Given the description of an element on the screen output the (x, y) to click on. 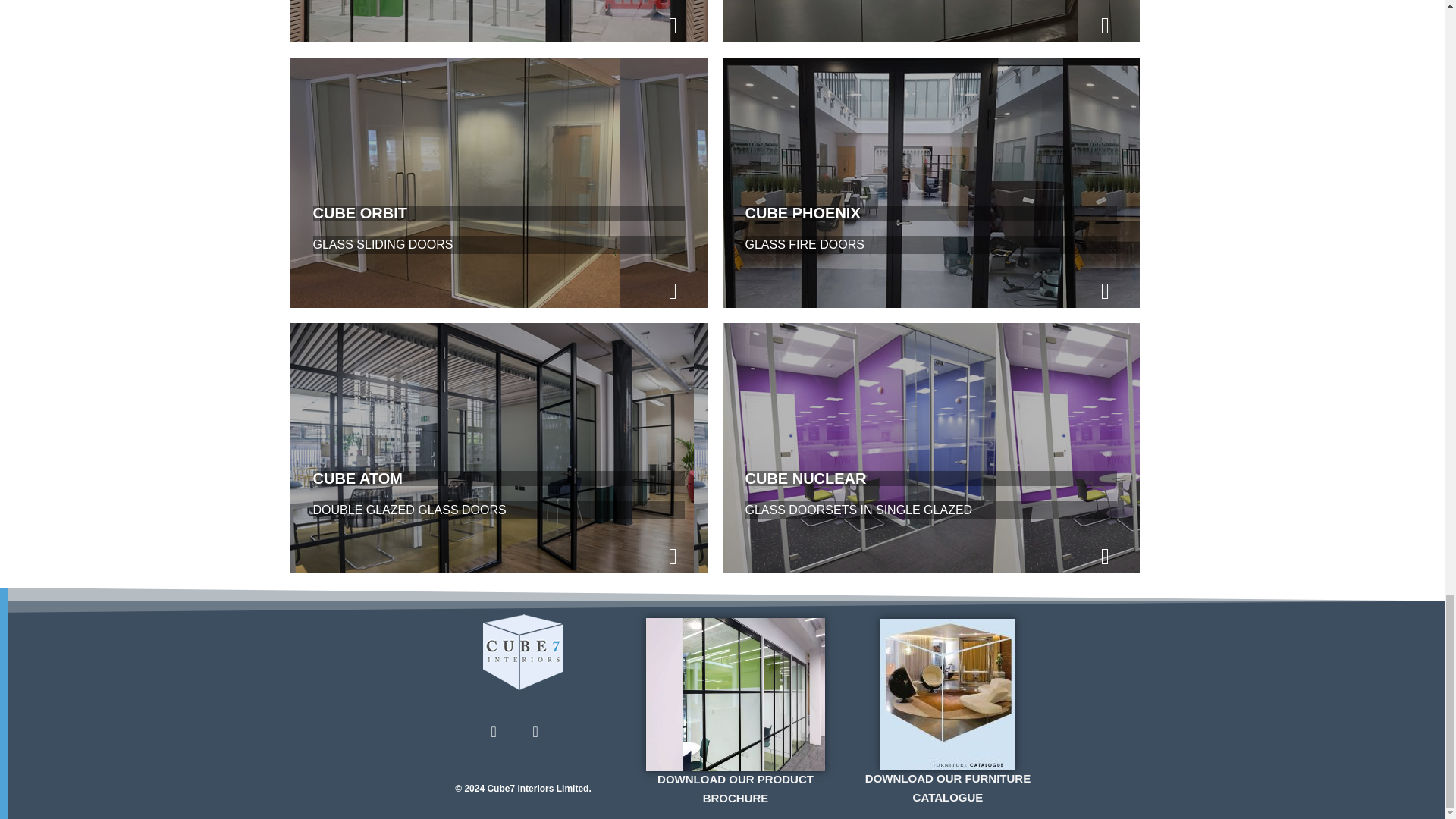
cube7-furniture-catalogue (947, 694)
